Given the description of an element on the screen output the (x, y) to click on. 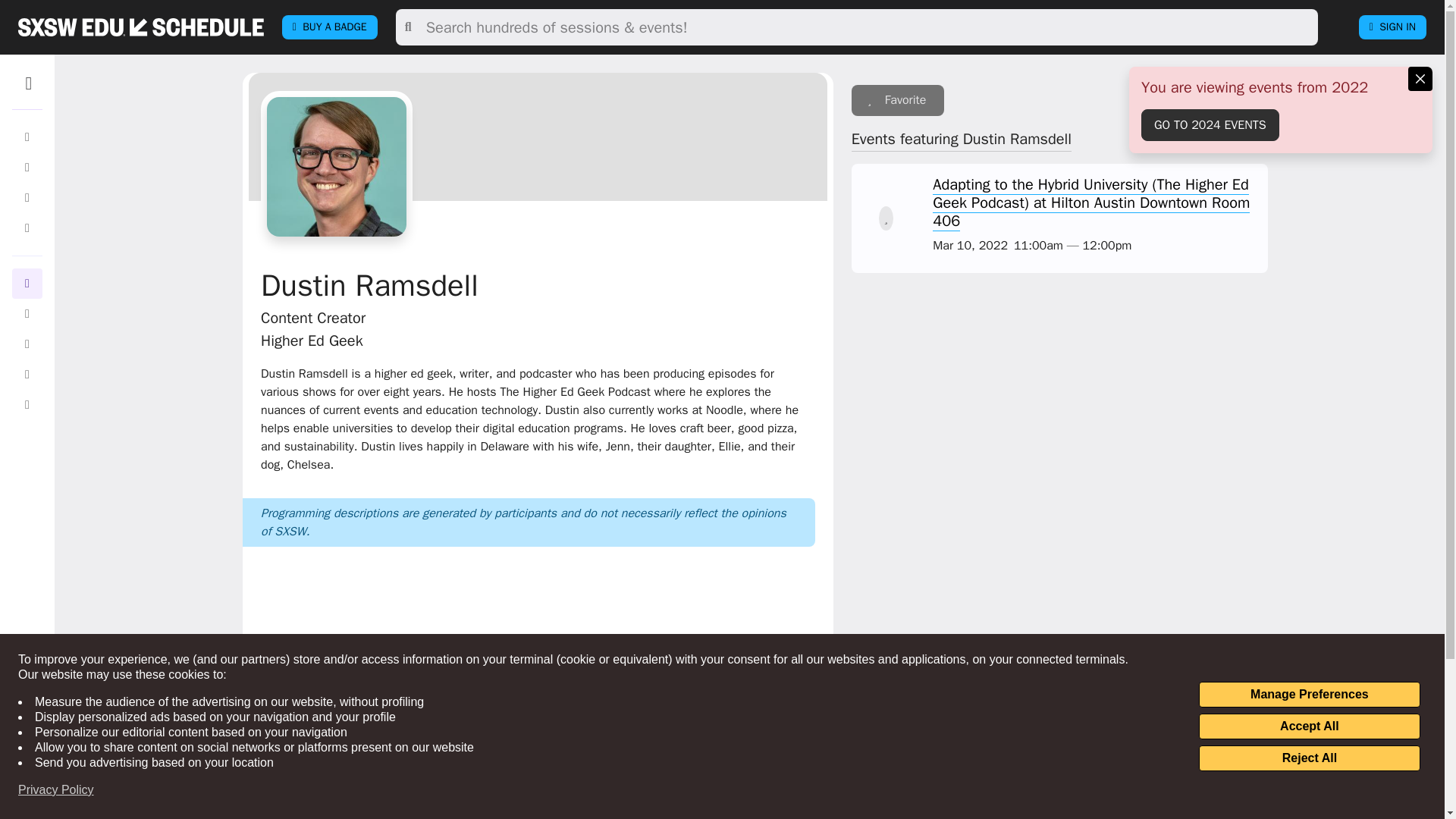
BUY A BADGE (329, 27)
Reject All (1309, 758)
GO TO 2024 EVENTS (1210, 124)
edu SCHEDULE (140, 27)
SIGN IN (1392, 27)
Manage Preferences (1309, 694)
Accept All (1309, 726)
Sign In to add to your favorites. (897, 100)
Favorite (897, 100)
Privacy Policy (55, 789)
